Given the description of an element on the screen output the (x, y) to click on. 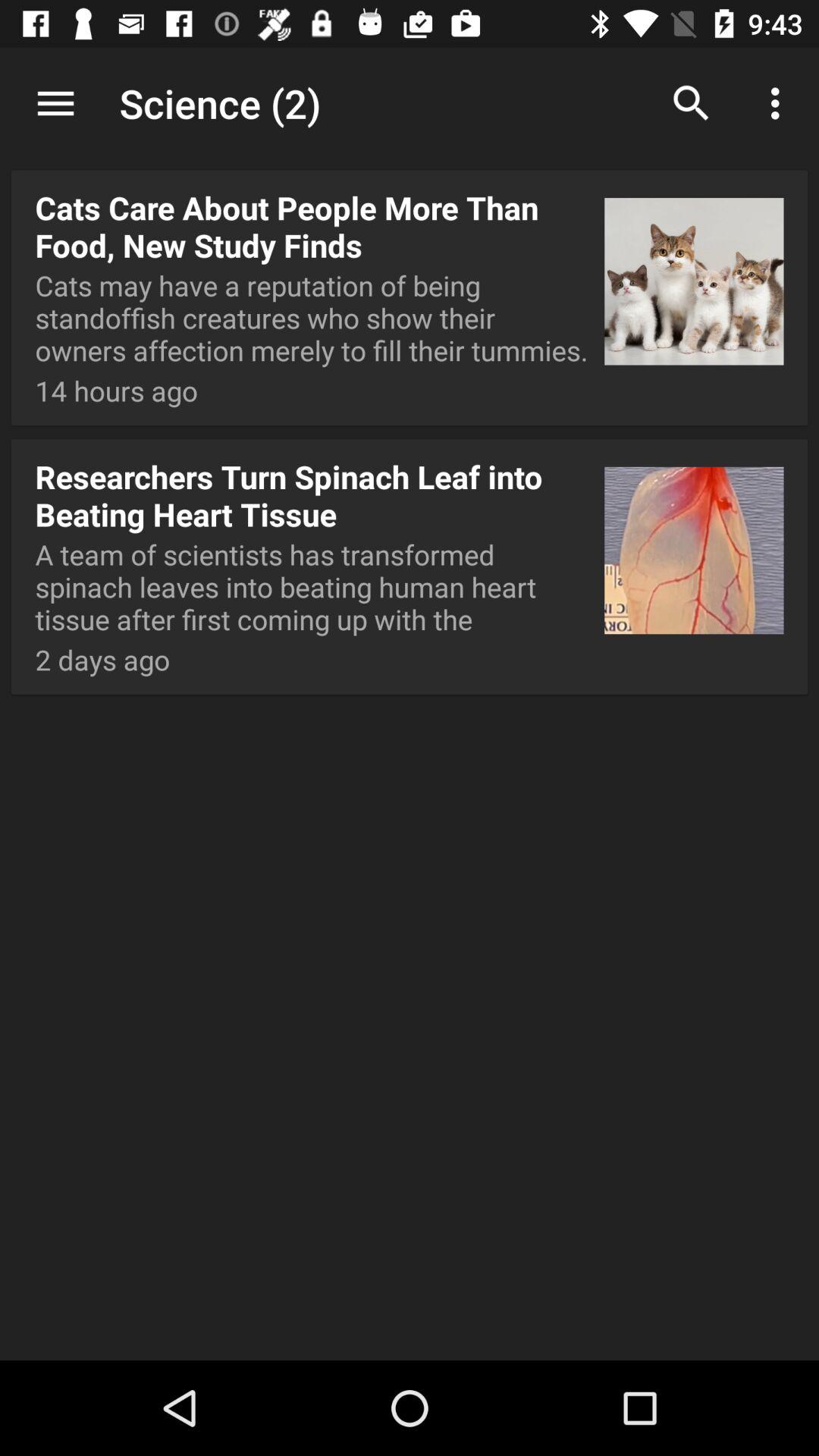
press app next to the science (2) app (691, 103)
